Given the description of an element on the screen output the (x, y) to click on. 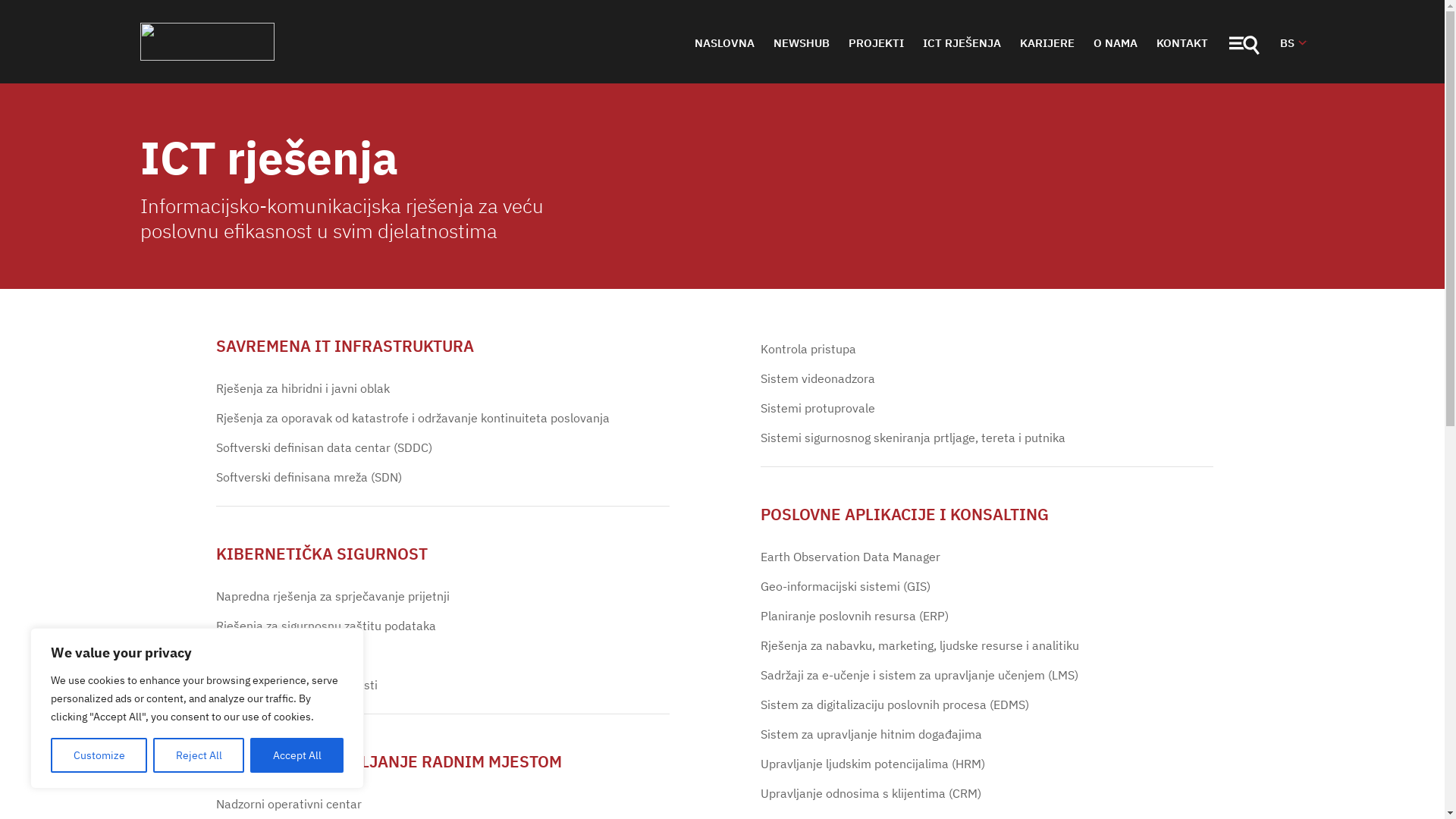
O NAMA Element type: text (1115, 42)
NEWSHUB Element type: text (801, 42)
Upravljanje ljudskim potencijalima (HRM) Element type: text (871, 763)
Planiranje poslovnih resursa (ERP) Element type: text (853, 615)
KARIJERE Element type: text (1047, 42)
Sistemi sigurnosnog skeniranja prtljage, tereta i putnika Element type: text (911, 437)
NASLOVNA Element type: text (724, 42)
Geo-informacijski sistemi (GIS) Element type: text (844, 586)
Reject All Element type: text (198, 754)
Earth Observation Data Manager Element type: text (849, 556)
Upravljanje odnosima s klijentima (CRM) Element type: text (869, 793)
Sistem za digitalizaciju poslovnih procesa (EDMS) Element type: text (893, 704)
Customize Element type: text (98, 754)
KONTAKT Element type: text (1182, 42)
Softverski definisan data centar (SDDC) Element type: text (324, 447)
Accept All Element type: text (296, 754)
Sistemi protuprovale Element type: text (816, 408)
Sistem videonadzora Element type: text (816, 378)
PROJEKTI Element type: text (876, 42)
Kontrola pristupa Element type: text (807, 349)
